Given the description of an element on the screen output the (x, y) to click on. 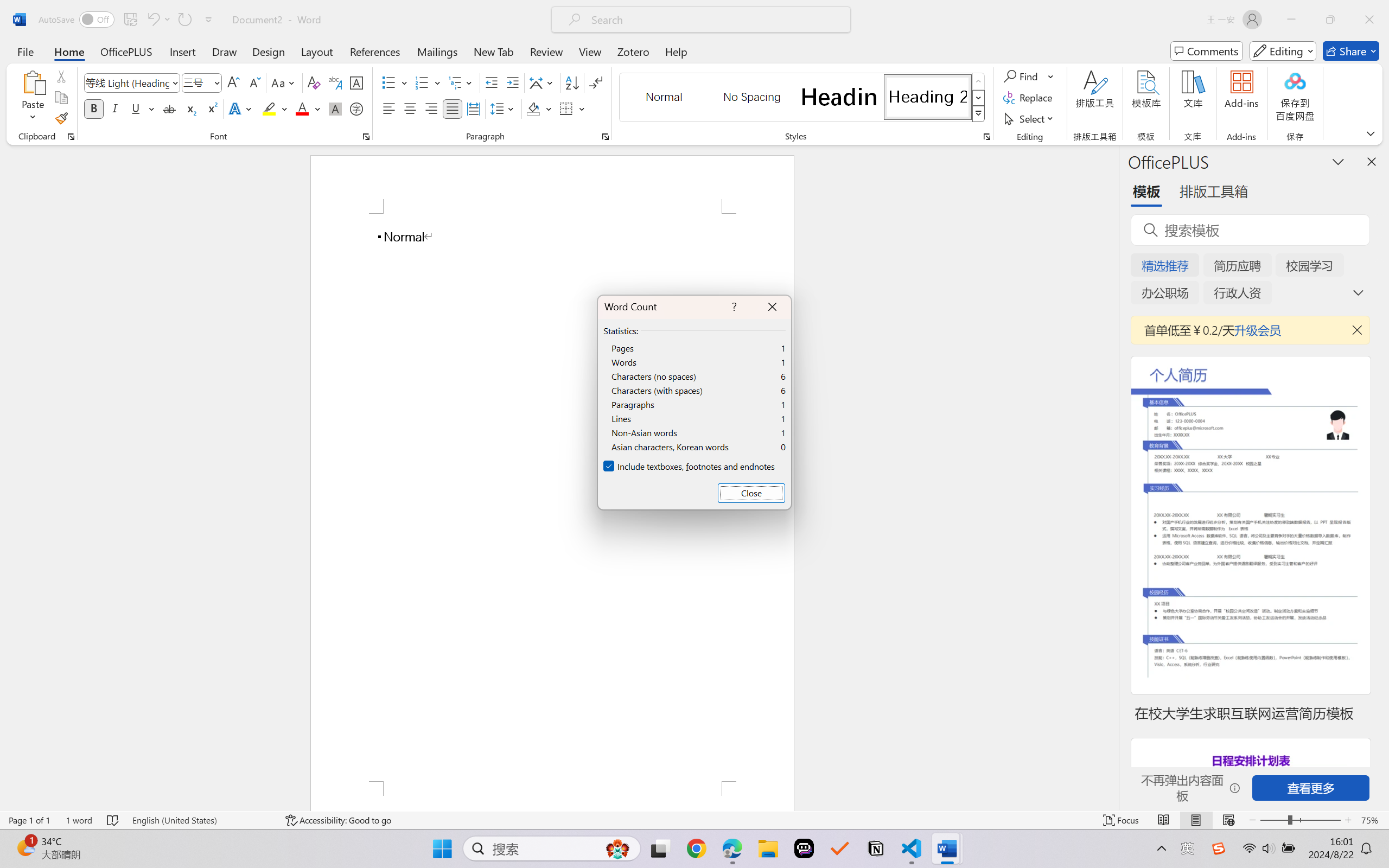
Cut (60, 75)
Borders (566, 108)
Office Clipboard... (70, 136)
Page Number Page 1 of 1 (29, 819)
Font Color Red (302, 108)
Align Right (431, 108)
Underline (142, 108)
Undo Typing (152, 19)
Bold (94, 108)
Layout (316, 51)
Mailings (437, 51)
